Given the description of an element on the screen output the (x, y) to click on. 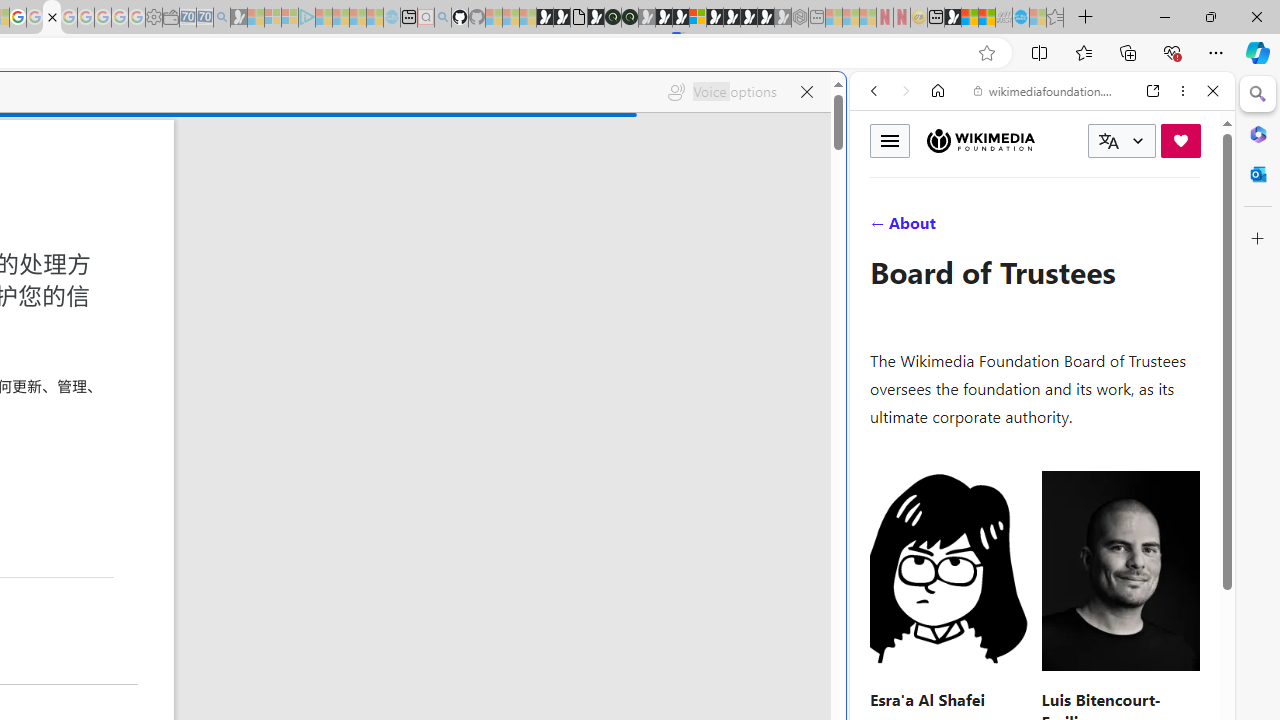
Wikimedia Foundation (980, 141)
Donate now (1180, 140)
Class: i icon icon-translate language-switcher__icon (1108, 141)
